Given the description of an element on the screen output the (x, y) to click on. 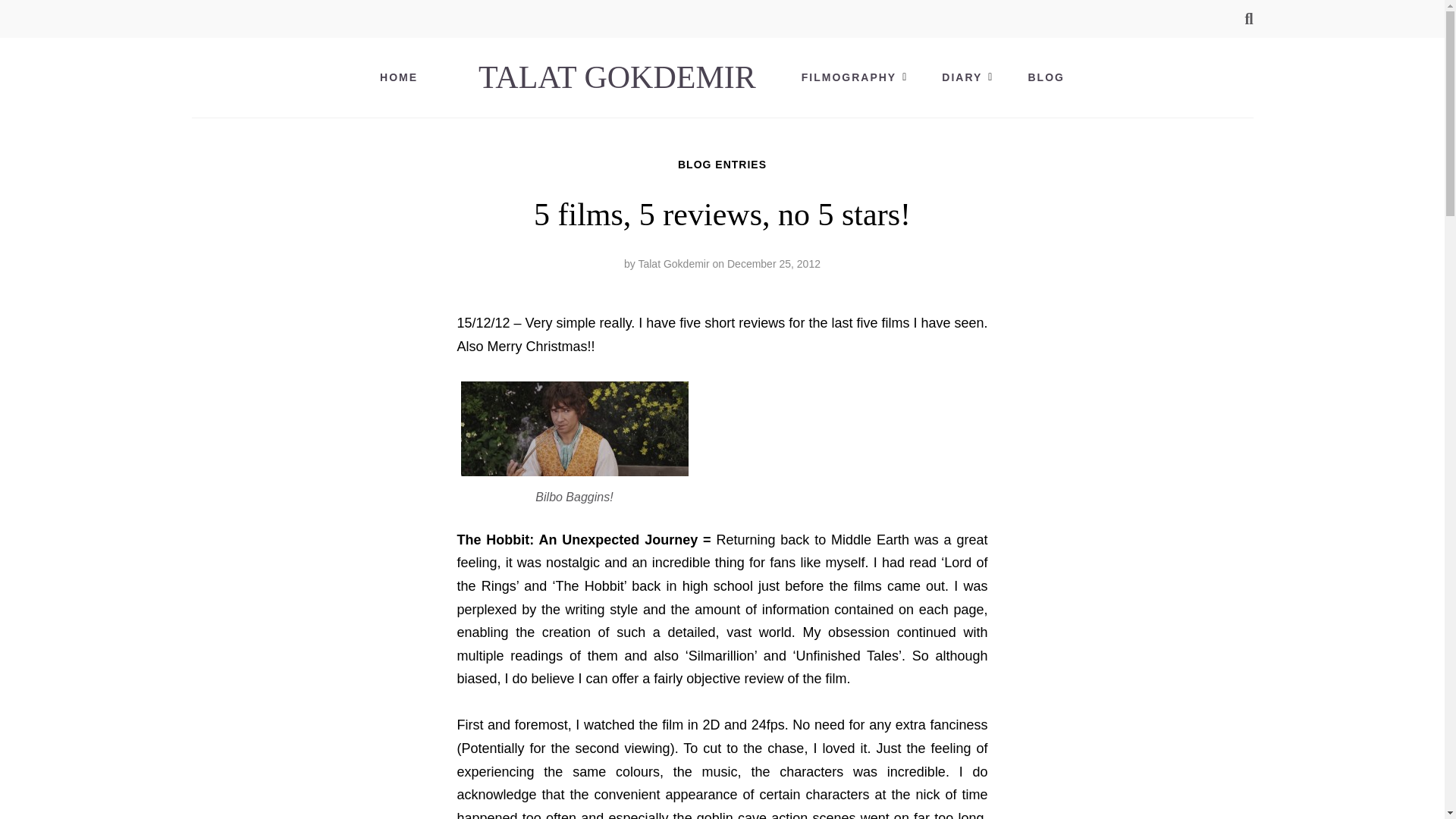
5 films, 5 reviews, no 5 stars! (773, 263)
BLOG ENTRIES (722, 163)
BLOG (1044, 76)
HOME (398, 76)
December 25, 2012 (773, 263)
TALAT GOKDEMIR (617, 77)
Talat Gokdemir (673, 263)
FILMOGRAPHY (848, 76)
DIARY (961, 76)
Posts by Talat Gokdemir (673, 263)
